Given the description of an element on the screen output the (x, y) to click on. 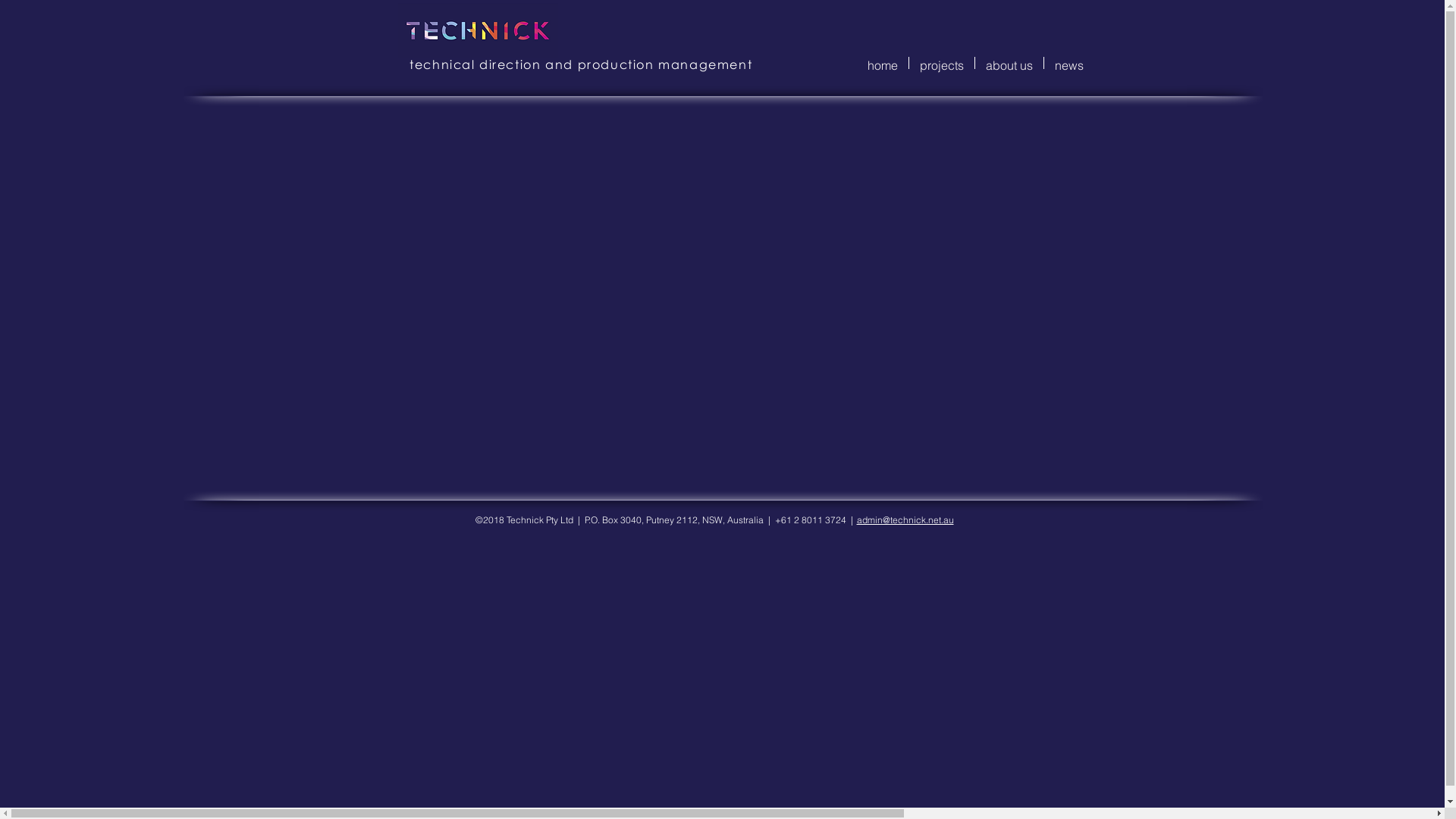
admin@technick.net.au Element type: text (904, 519)
home Element type: text (882, 62)
news Element type: text (1068, 62)
